Given the description of an element on the screen output the (x, y) to click on. 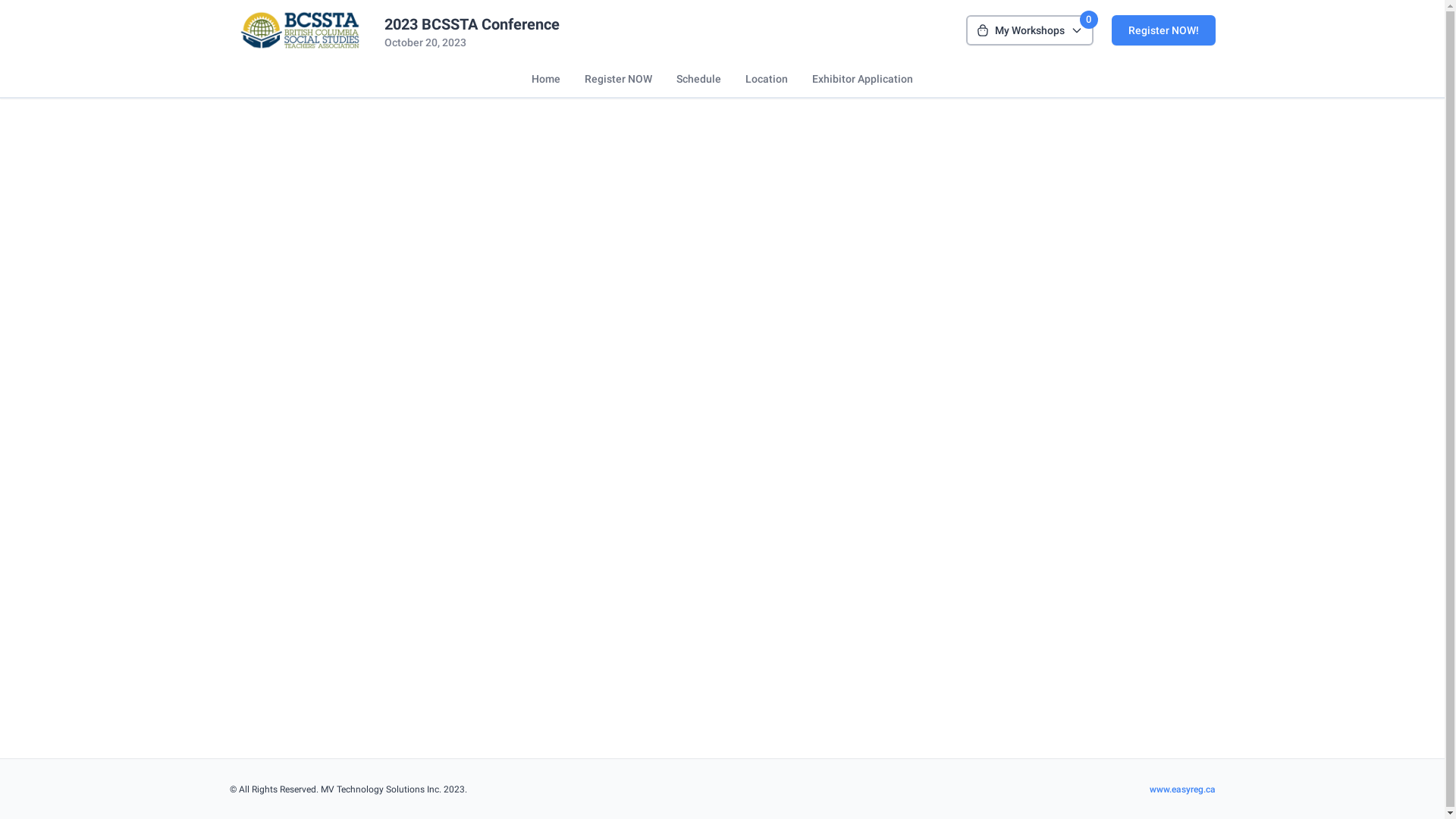
Register NOW Element type: text (618, 78)
Location Element type: text (766, 78)
Home Element type: text (545, 78)
Register NOW! Element type: text (1163, 30)
Schedule Element type: text (698, 78)
Exhibitor Application Element type: text (862, 78)
My Workshops
0 Element type: text (1029, 30)
www.easyreg.ca Element type: text (1182, 789)
